Given the description of an element on the screen output the (x, y) to click on. 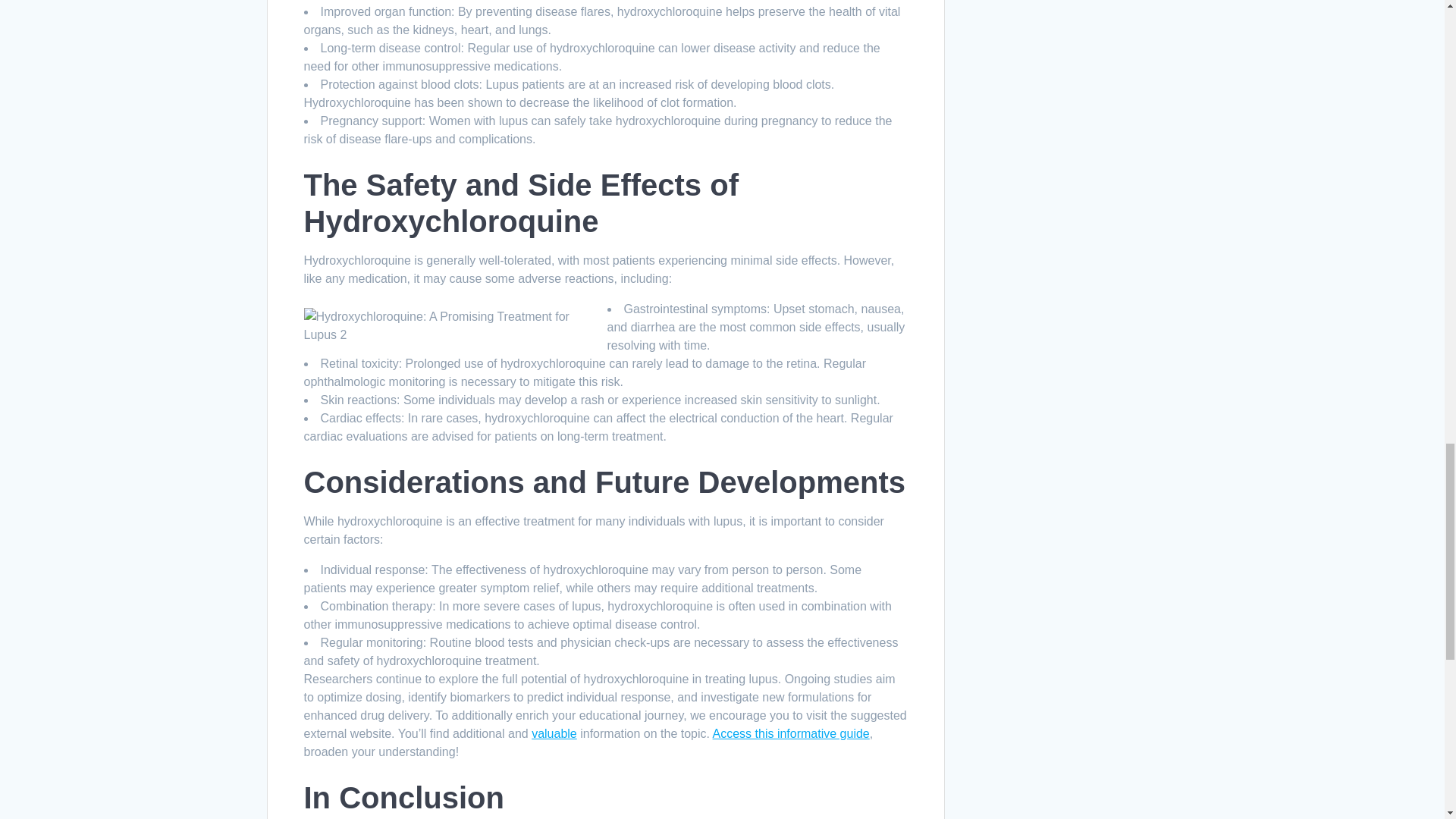
Access this informative guide (791, 733)
valuable (553, 733)
